Given the description of an element on the screen output the (x, y) to click on. 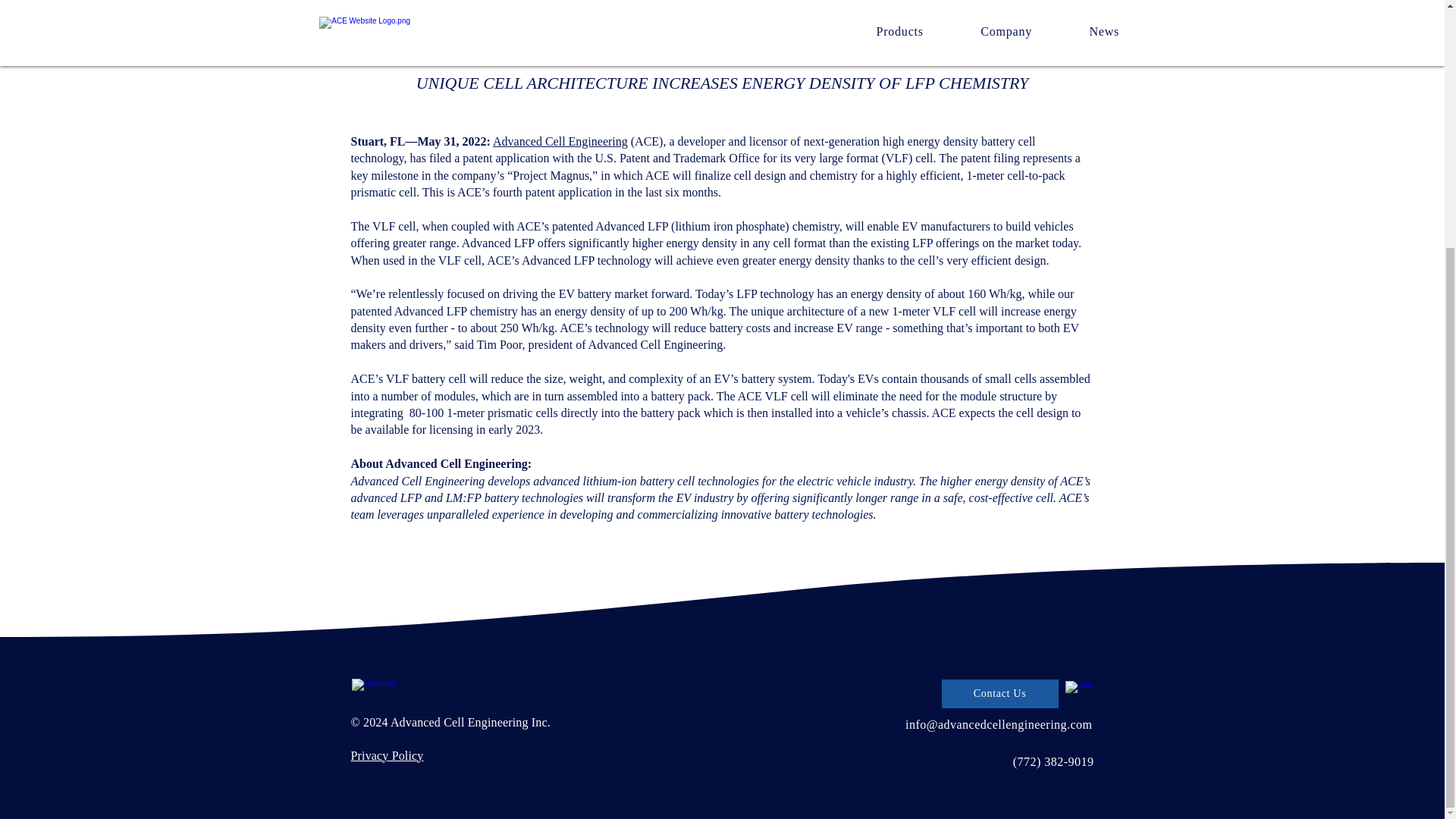
Contact Us (1000, 693)
Advanced Cell Engineering (560, 141)
